Given the description of an element on the screen output the (x, y) to click on. 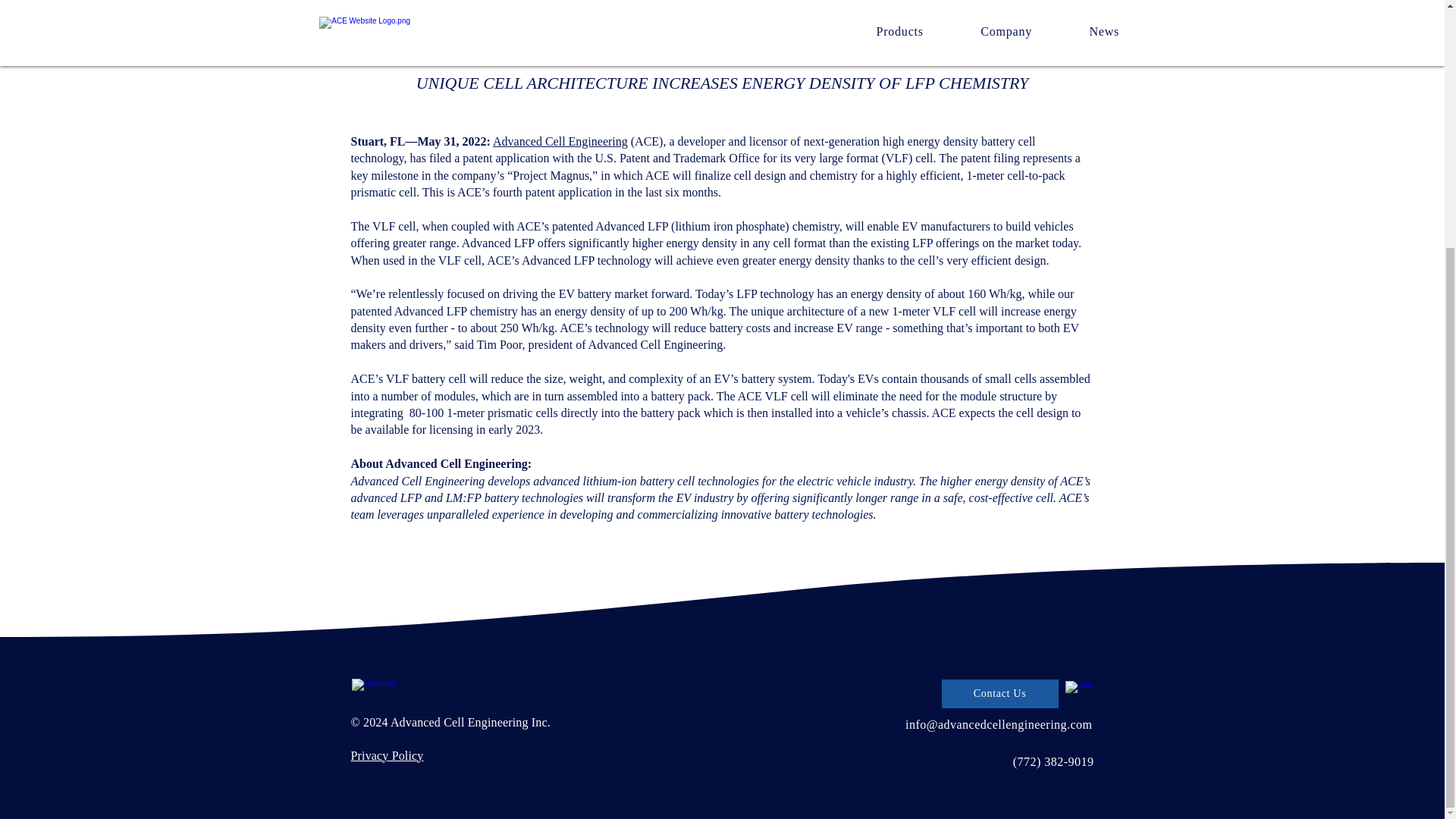
Contact Us (1000, 693)
Advanced Cell Engineering (560, 141)
